Given the description of an element on the screen output the (x, y) to click on. 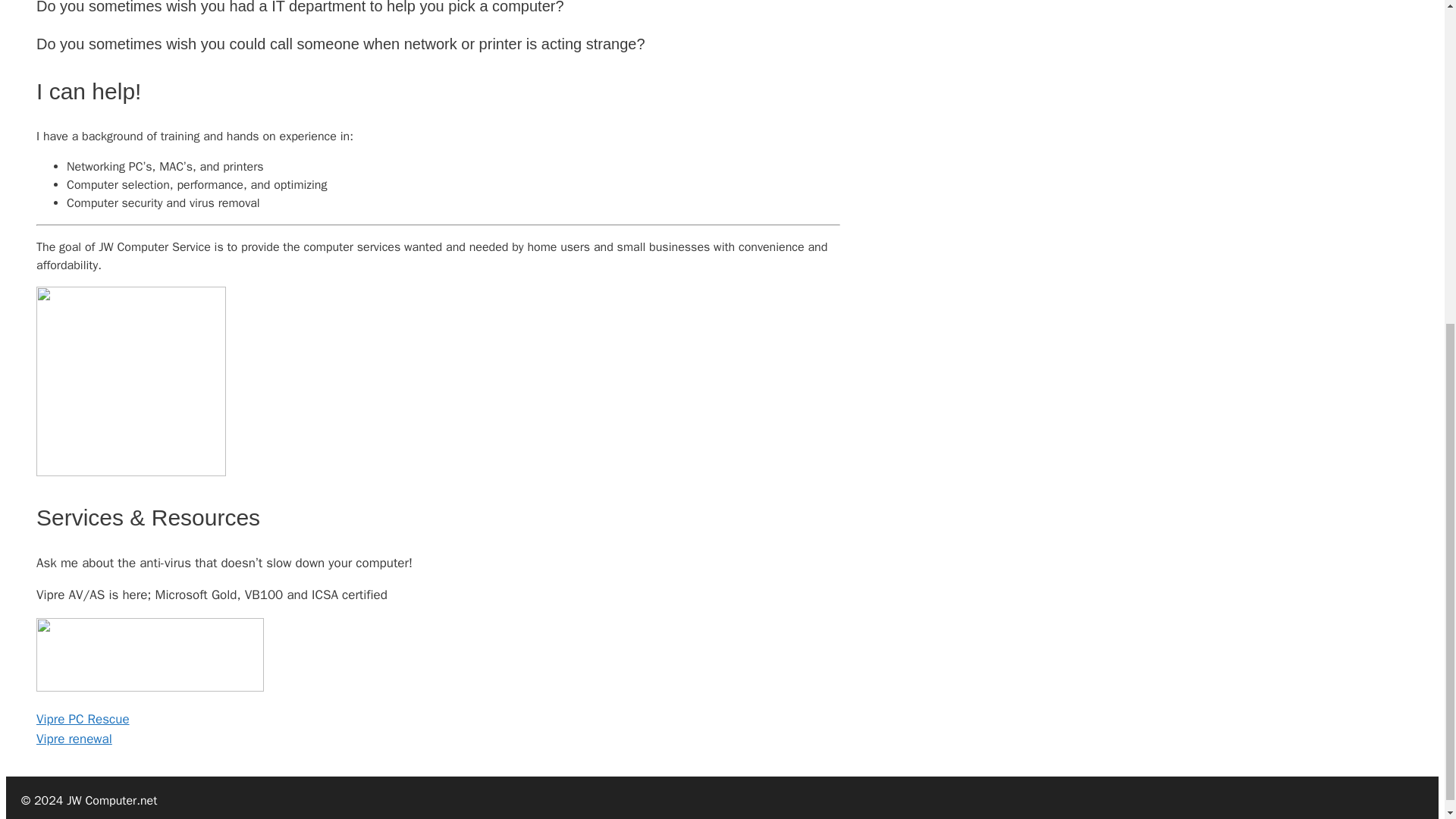
Vipre PC Rescue (82, 719)
Vipre renewal (74, 738)
